Given the description of an element on the screen output the (x, y) to click on. 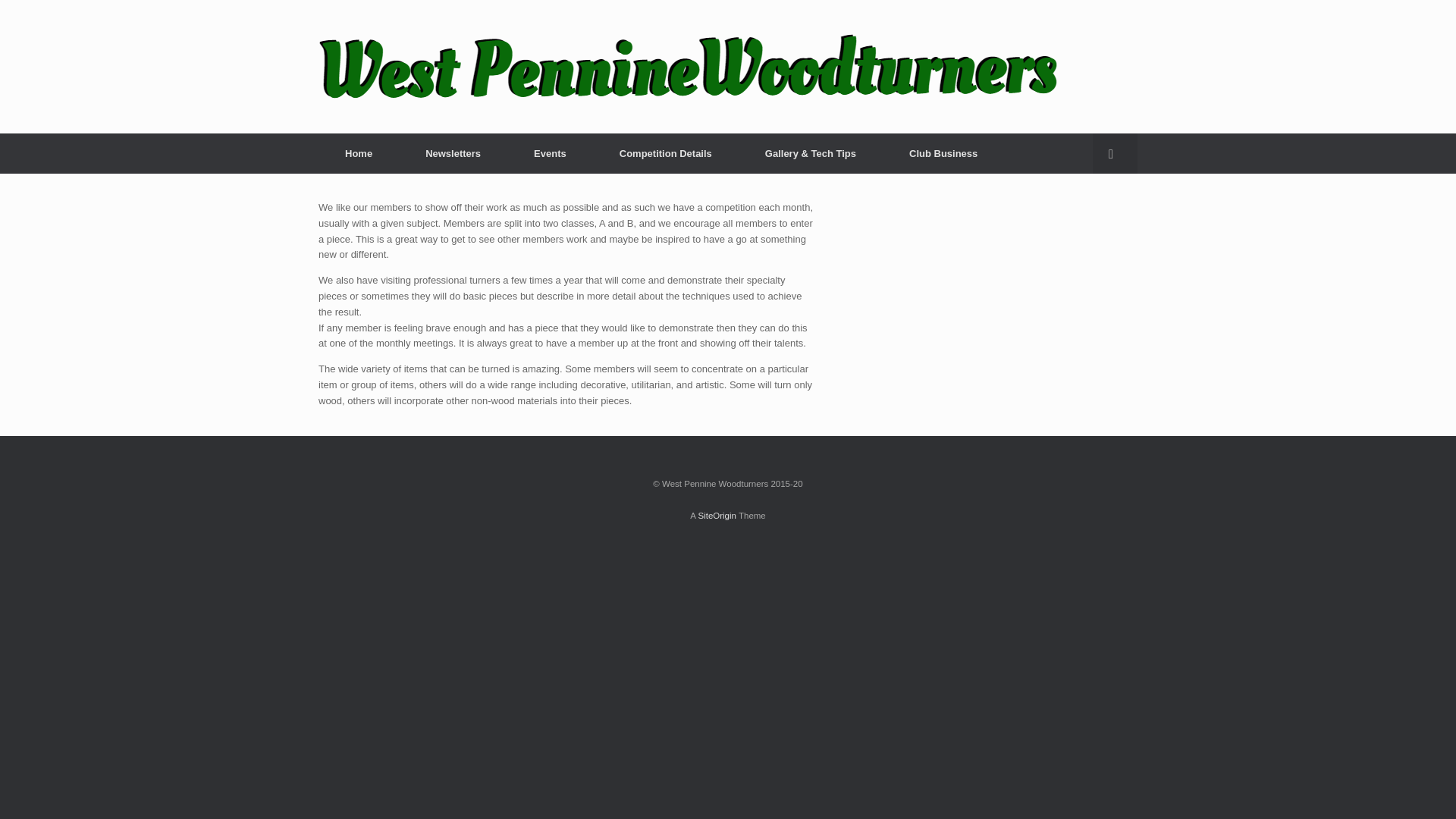
Events (549, 153)
SiteOrigin (716, 515)
Home (358, 153)
Club Business (943, 153)
West Pennine Woodturners (687, 66)
Competition Details (665, 153)
Newsletters (452, 153)
